Given the description of an element on the screen output the (x, y) to click on. 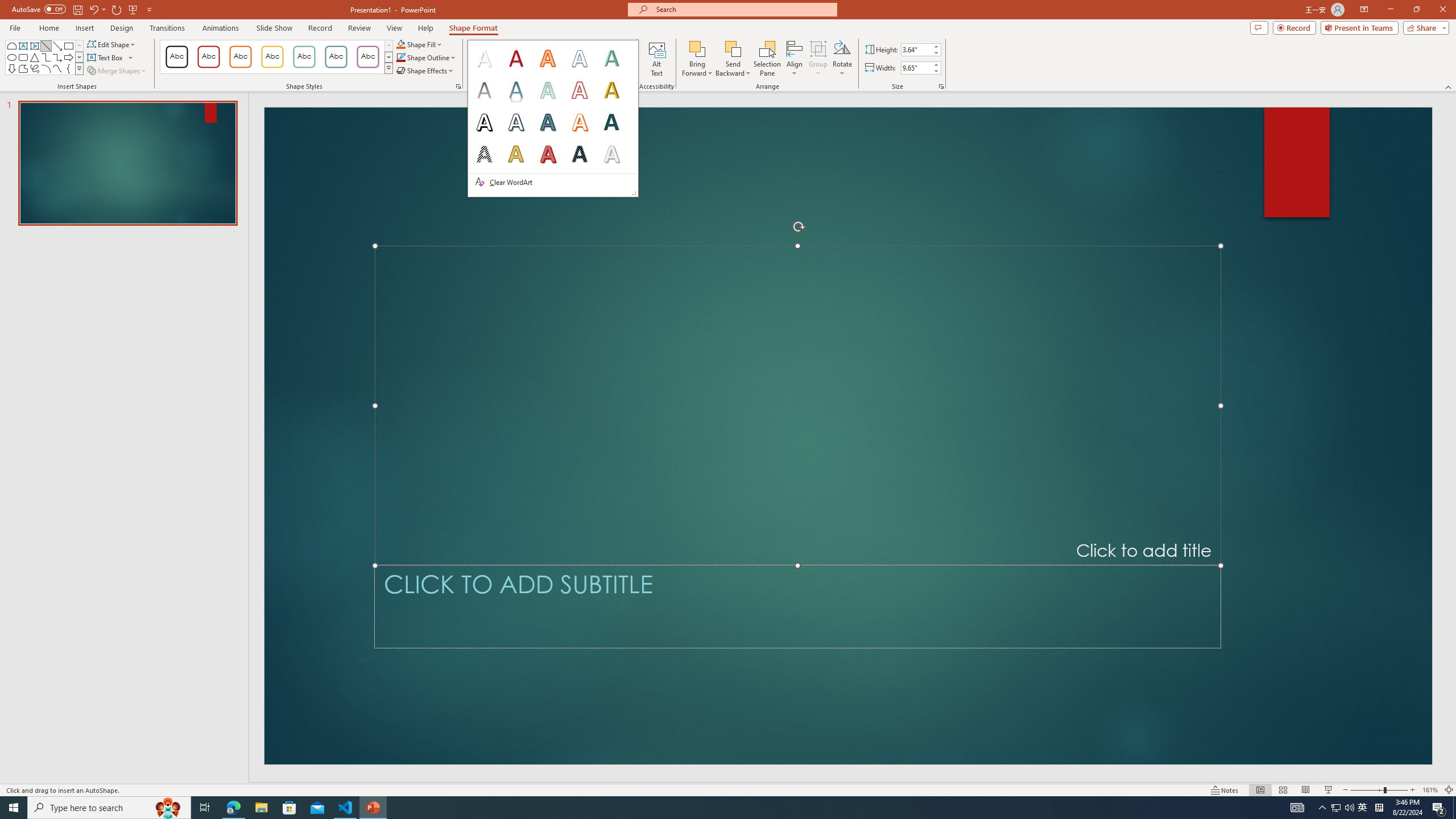
Colored Outline - Black, Dark 1 (176, 56)
Shape Fill Orange, Accent 2 (400, 44)
